Given the description of an element on the screen output the (x, y) to click on. 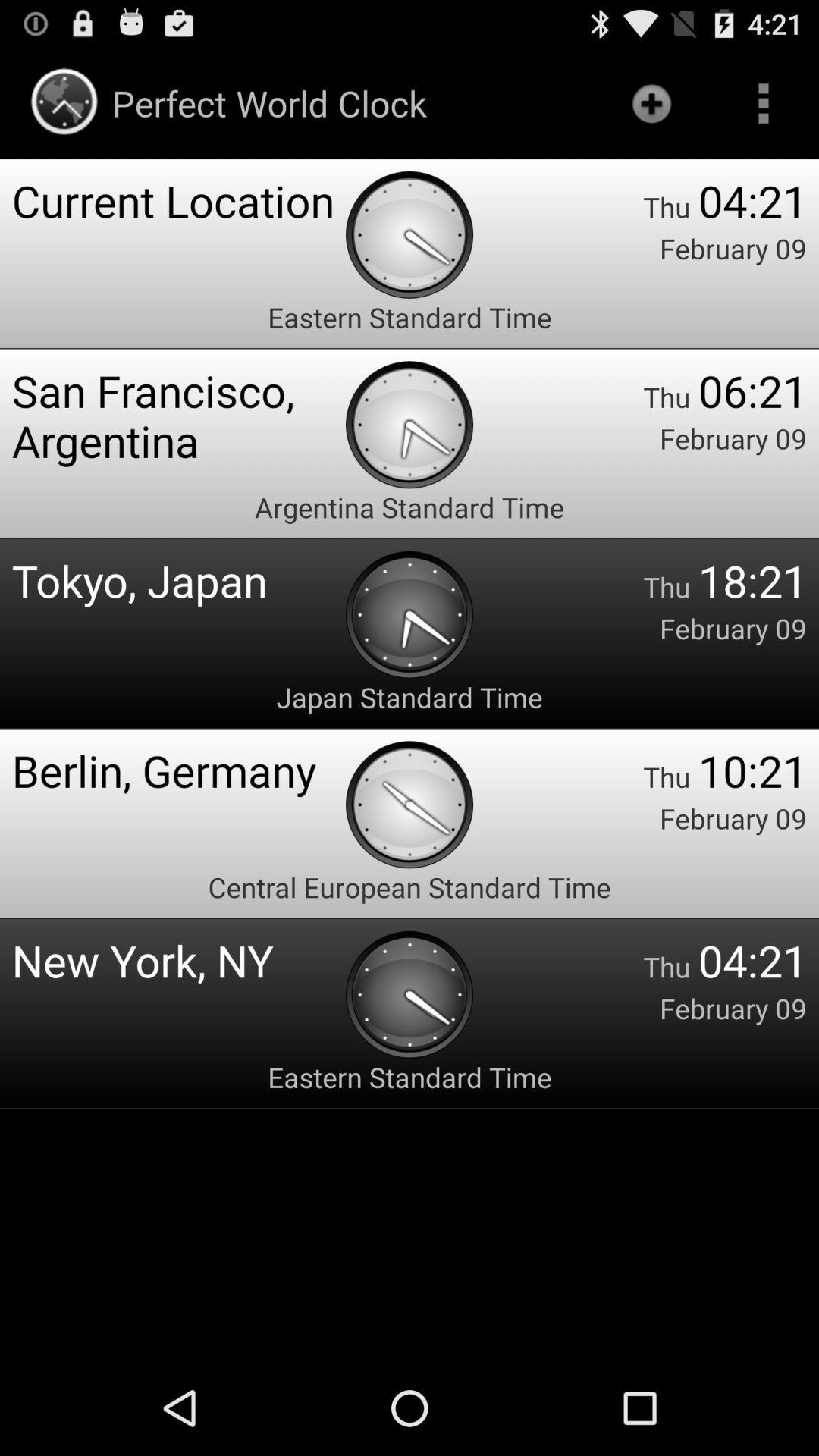
flip until berlin, germany (178, 770)
